Given the description of an element on the screen output the (x, y) to click on. 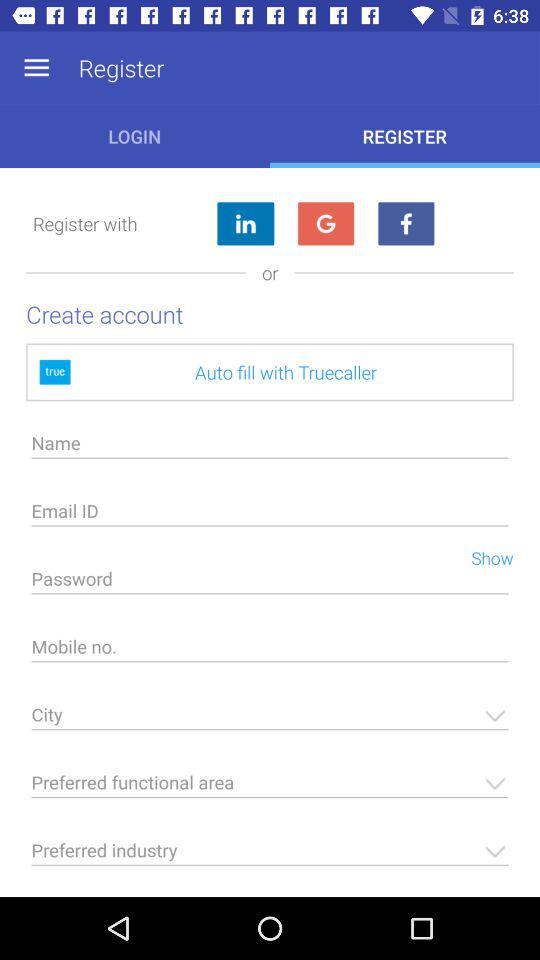
press the item next to register with (244, 223)
